Given the description of an element on the screen output the (x, y) to click on. 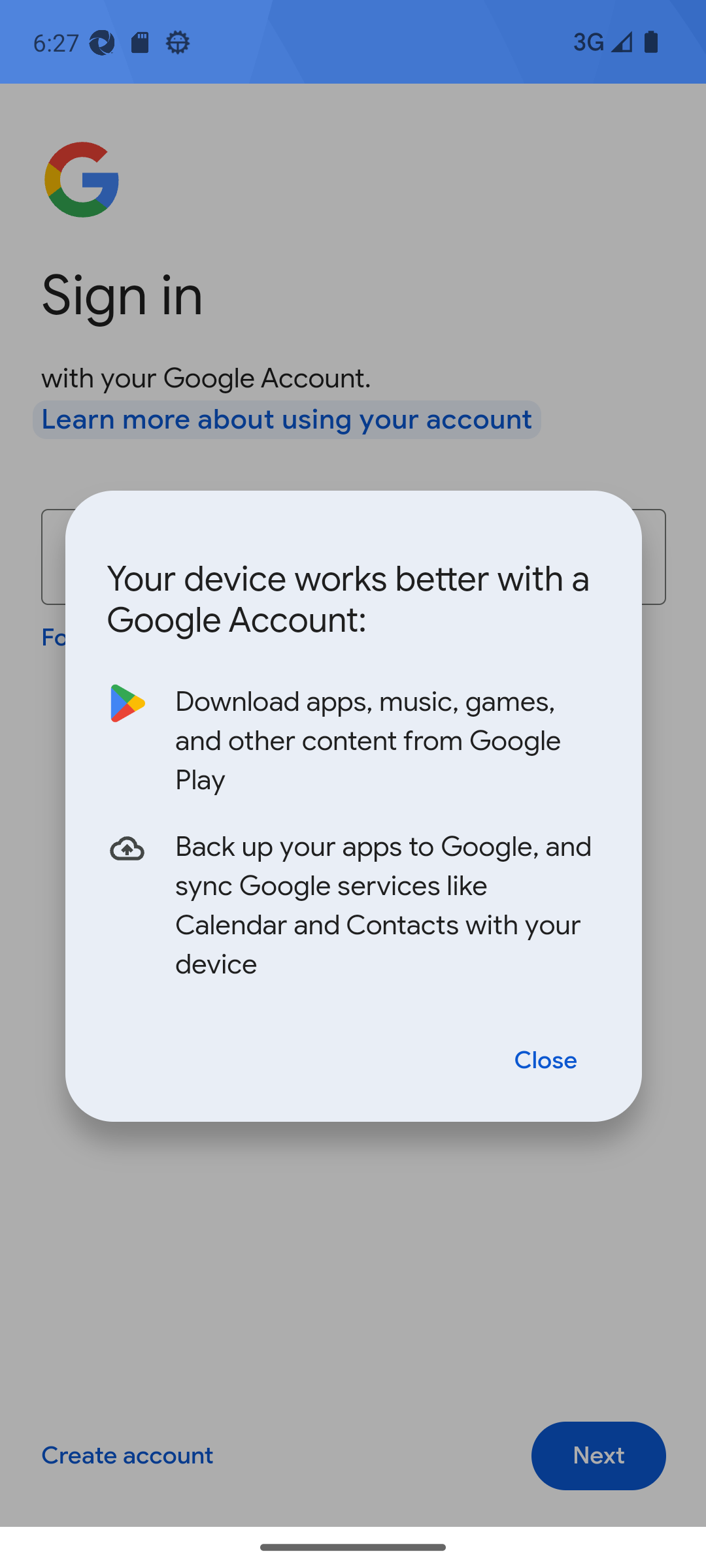
Close (545, 1058)
